Given the description of an element on the screen output the (x, y) to click on. 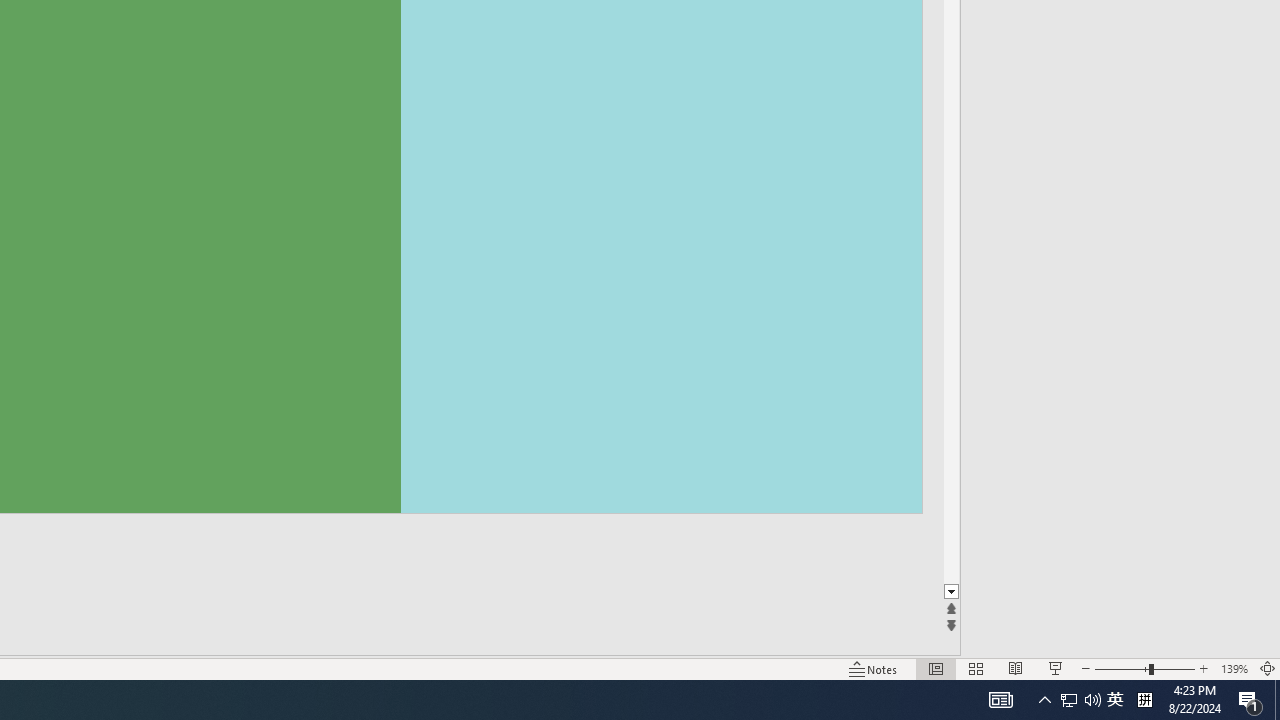
Zoom 139% (1234, 668)
